Given the description of an element on the screen output the (x, y) to click on. 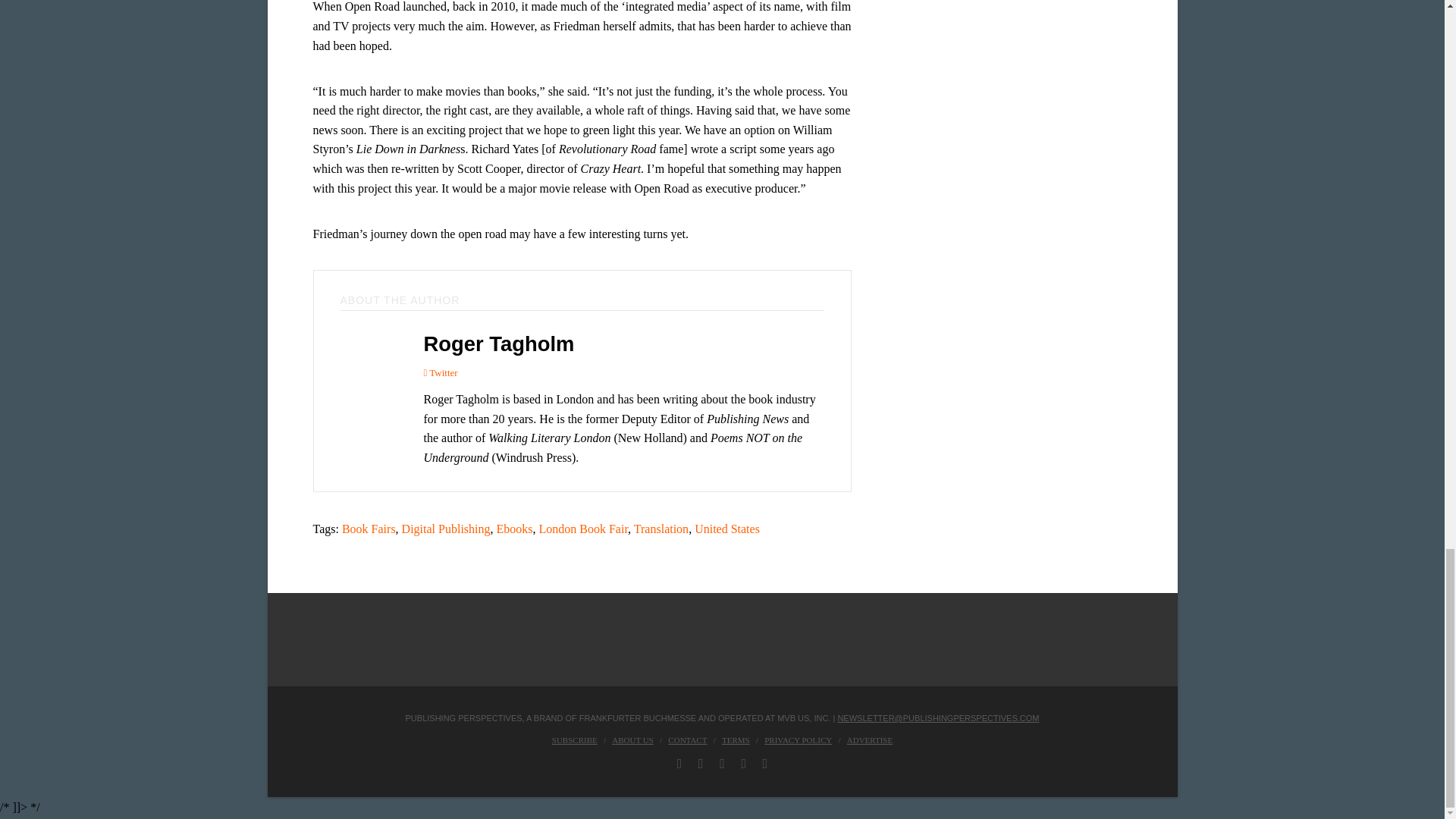
Terms and Conditions (735, 739)
Book Fairs (369, 528)
Twitter (700, 763)
Digital Publishing (445, 528)
Facebook (679, 763)
Ebooks (514, 528)
Twitter (440, 372)
Translation (660, 528)
London Book Fair (583, 528)
LinkedIn (722, 763)
Visit the Twitter Profile for Roger Tagholm (440, 372)
RSS (765, 763)
Subscribe to Publishing Perspectives (573, 739)
YouTube (743, 763)
